Given the description of an element on the screen output the (x, y) to click on. 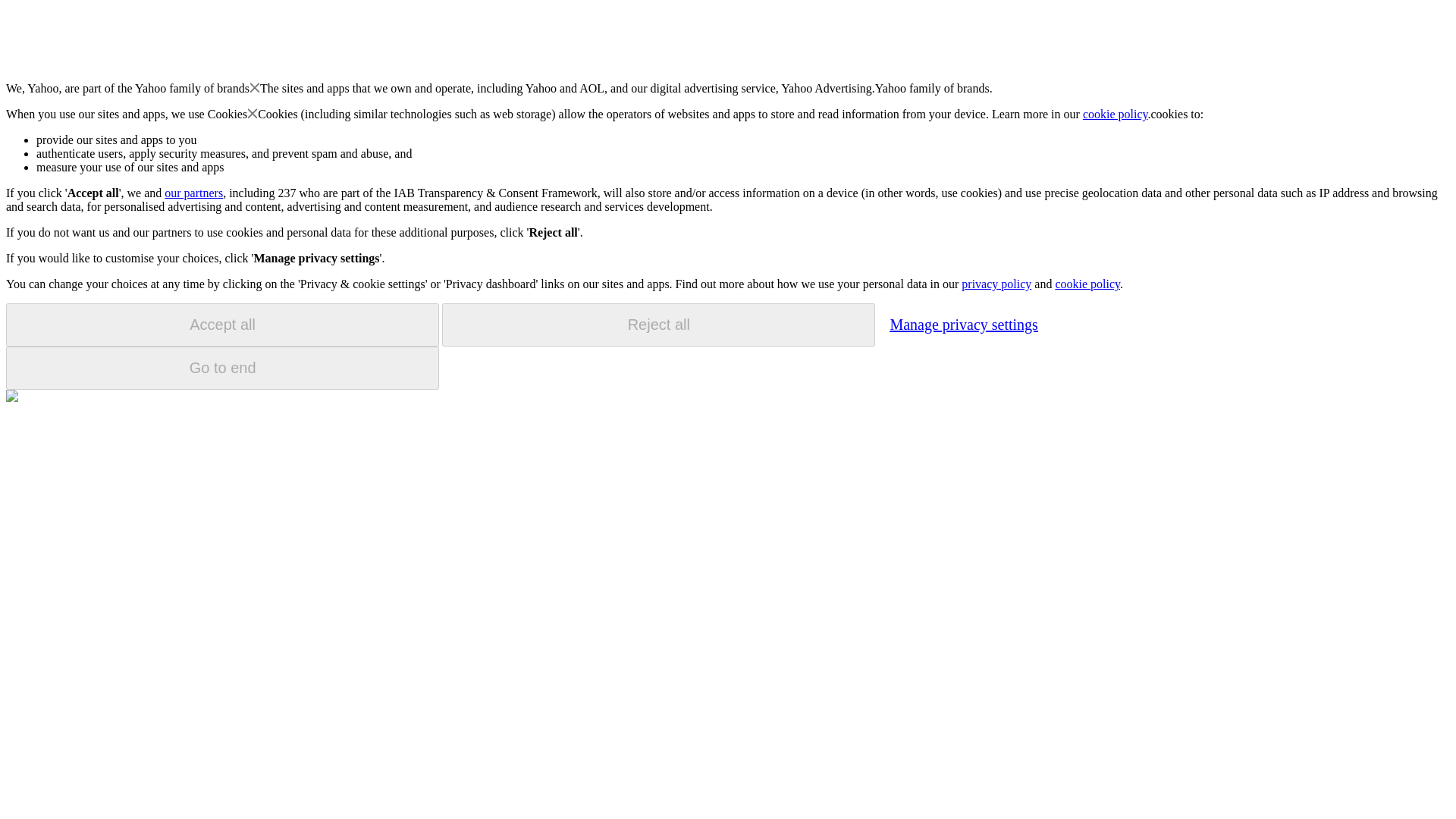
Accept all (222, 324)
privacy policy (995, 283)
Reject all (658, 324)
Go to end (222, 367)
our partners (193, 192)
cookie policy (1086, 283)
cookie policy (1115, 113)
Manage privacy settings (963, 323)
